Given the description of an element on the screen output the (x, y) to click on. 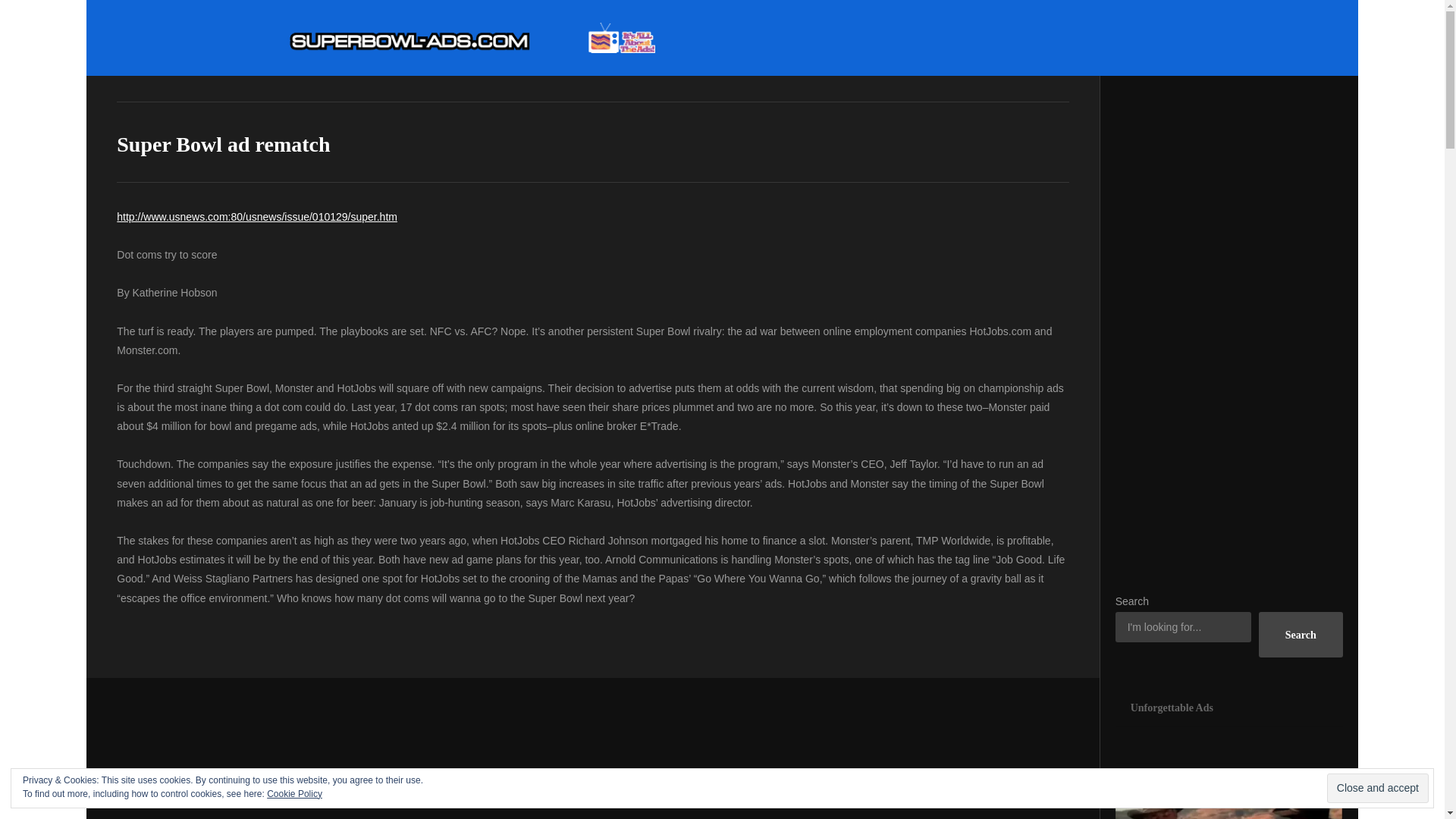
Close and accept (1377, 788)
Superbowl-ads.com Video Archive 2024 (472, 37)
Search (1300, 634)
Close and accept (1377, 788)
Unforgettable Ads (1228, 707)
Cookie Policy (293, 793)
